Given the description of an element on the screen output the (x, y) to click on. 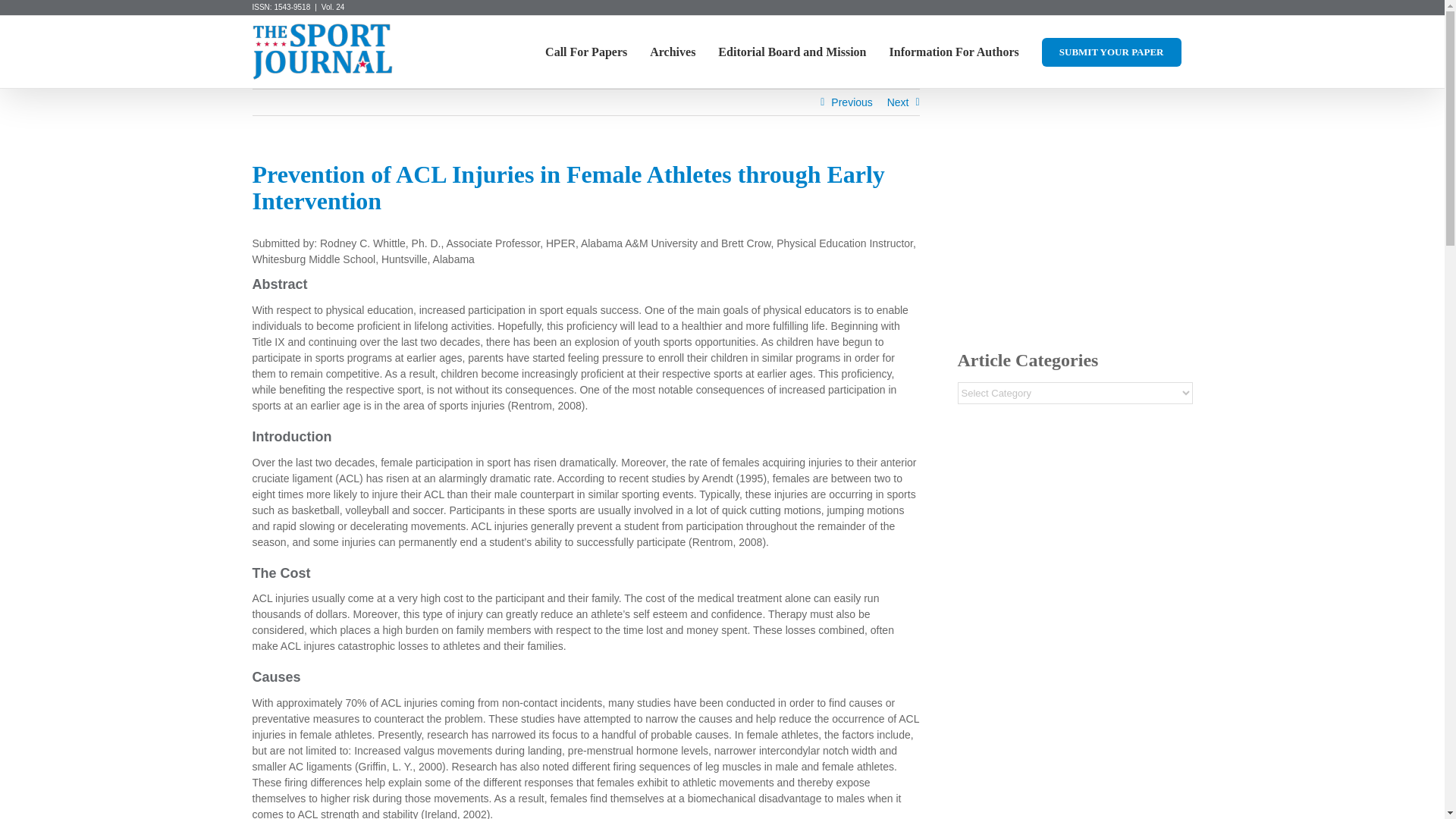
Vol. 24 (333, 7)
SUBMIT YOUR PAPER (1111, 51)
Previous (851, 102)
Next (897, 102)
Information For Authors (953, 51)
Archives (672, 51)
Editorial Board and Mission (791, 51)
Call For Papers (586, 51)
